Given the description of an element on the screen output the (x, y) to click on. 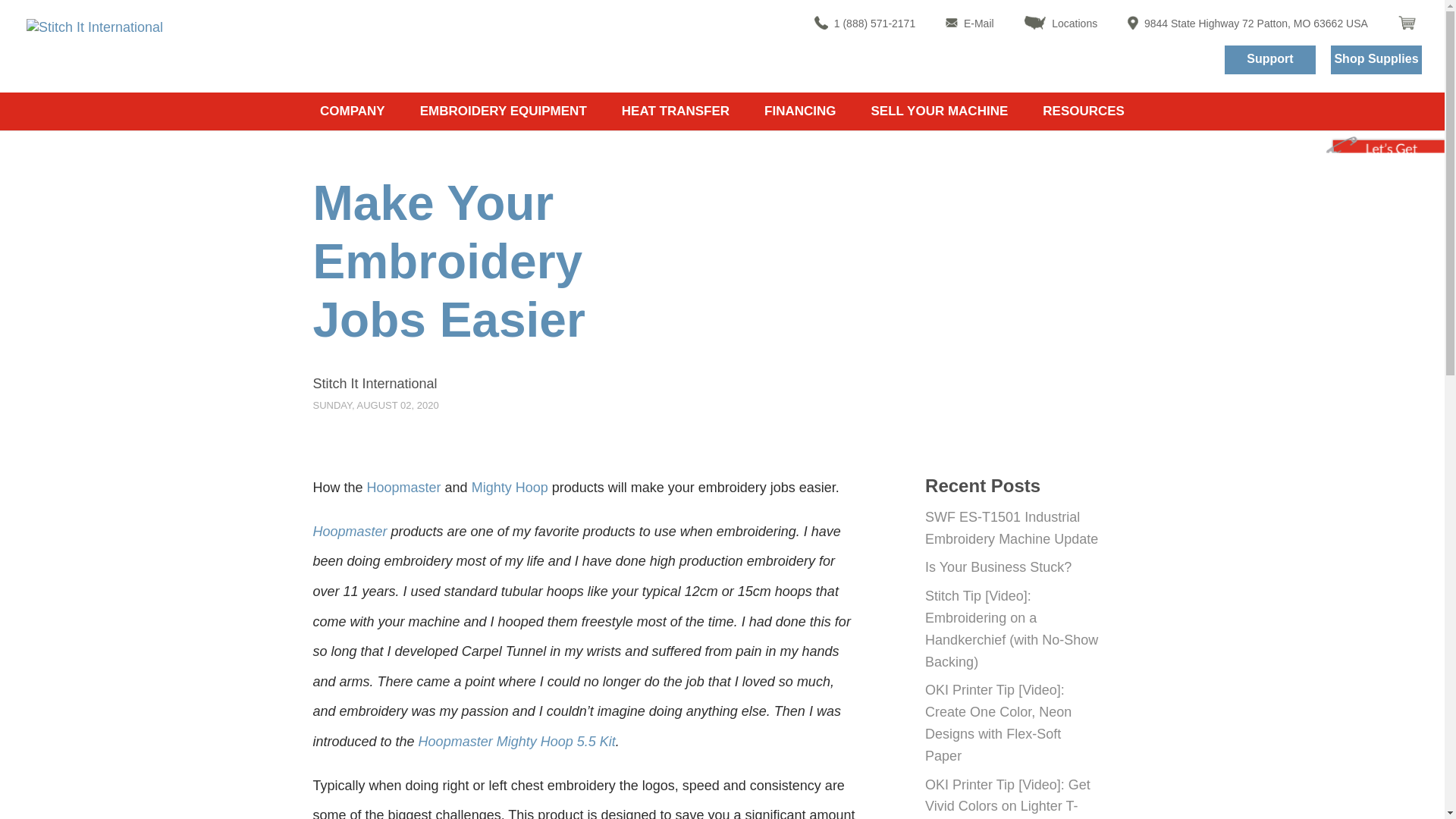
Mighty Hoop (509, 487)
COMPANY (352, 111)
Locations (1061, 23)
E-Mail (968, 23)
SELL YOUR MACHINE (939, 111)
Hoopmaster (403, 487)
HEAT TRANSFER (675, 111)
Shop Supplies (1376, 59)
EMBROIDERY EQUIPMENT (503, 111)
RESOURCES (1082, 111)
